Given the description of an element on the screen output the (x, y) to click on. 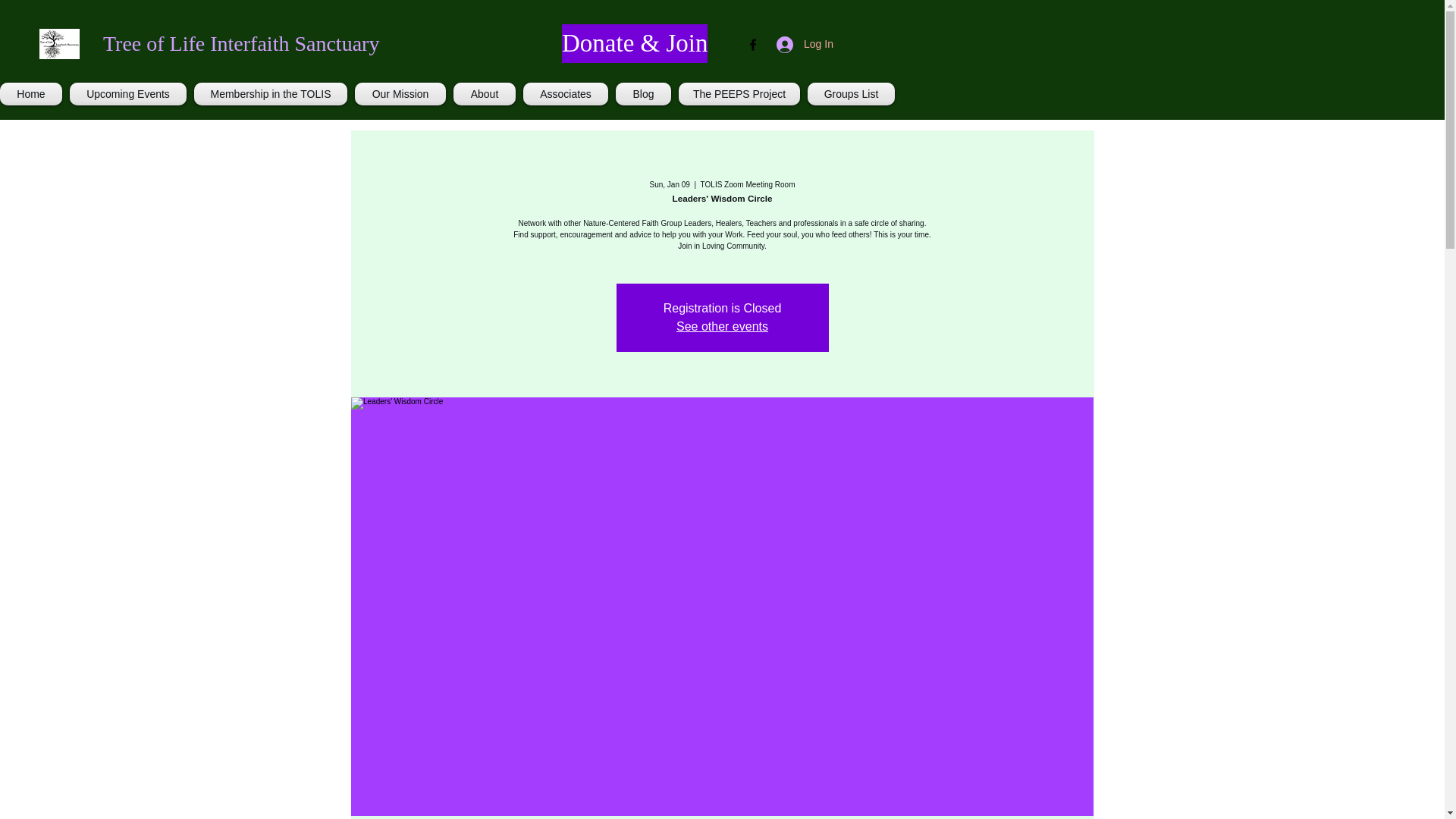
About (484, 93)
The PEEPS Project (739, 93)
Membership in the TOLIS (270, 93)
Home (32, 93)
Groups List (849, 93)
Log In (804, 44)
Tree of Life Interfaith Sanctuary (240, 43)
Our Mission (399, 93)
Blog (643, 93)
See other events (722, 326)
Associates (565, 93)
Upcoming Events (127, 93)
